Given the description of an element on the screen output the (x, y) to click on. 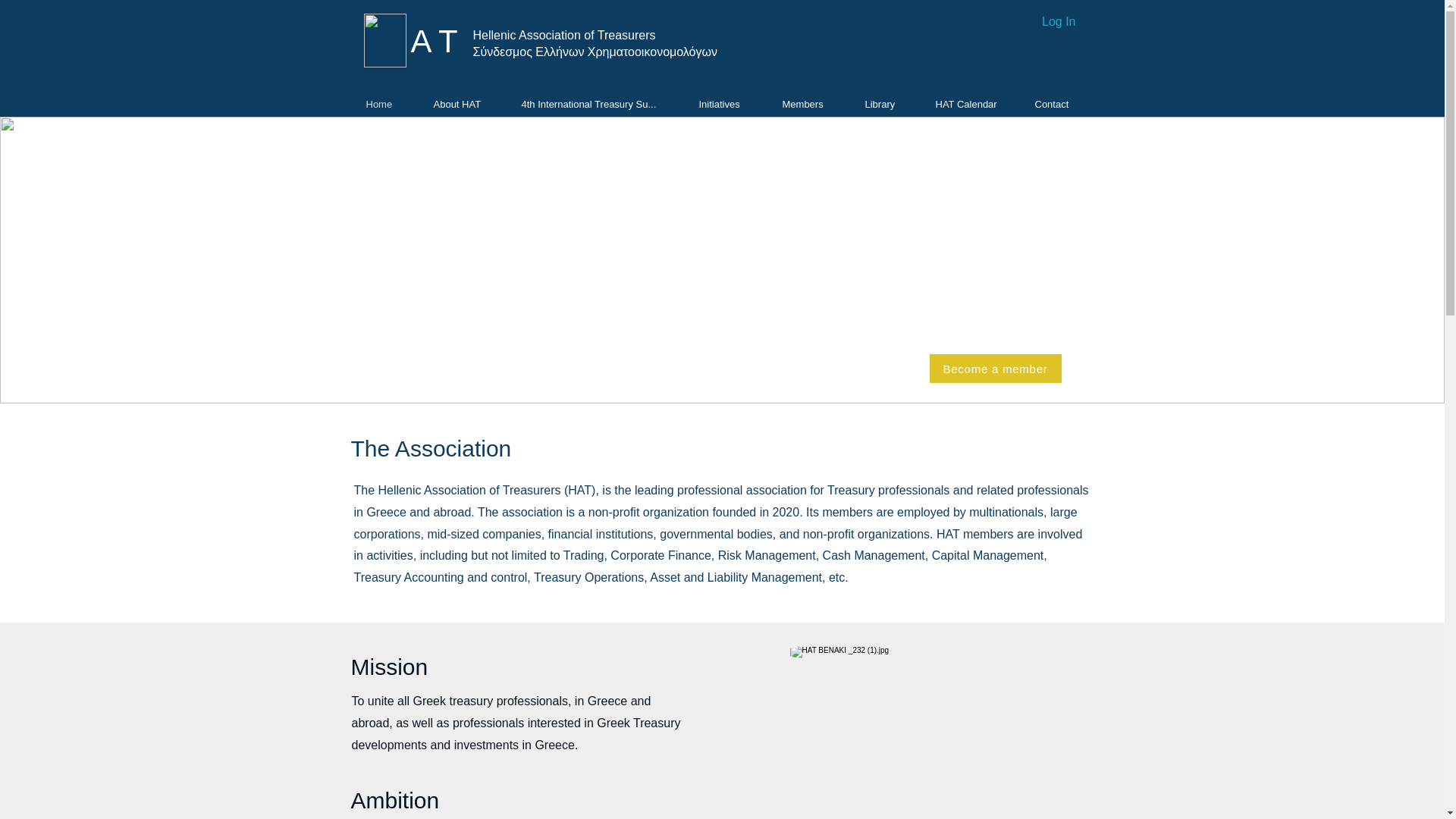
Home (383, 104)
Members (808, 104)
About HAT (462, 104)
HAT Calendar (970, 104)
Log In (1043, 21)
Contact (1056, 104)
Become a member (995, 368)
4th International Treasury Su... (595, 104)
